Given the description of an element on the screen output the (x, y) to click on. 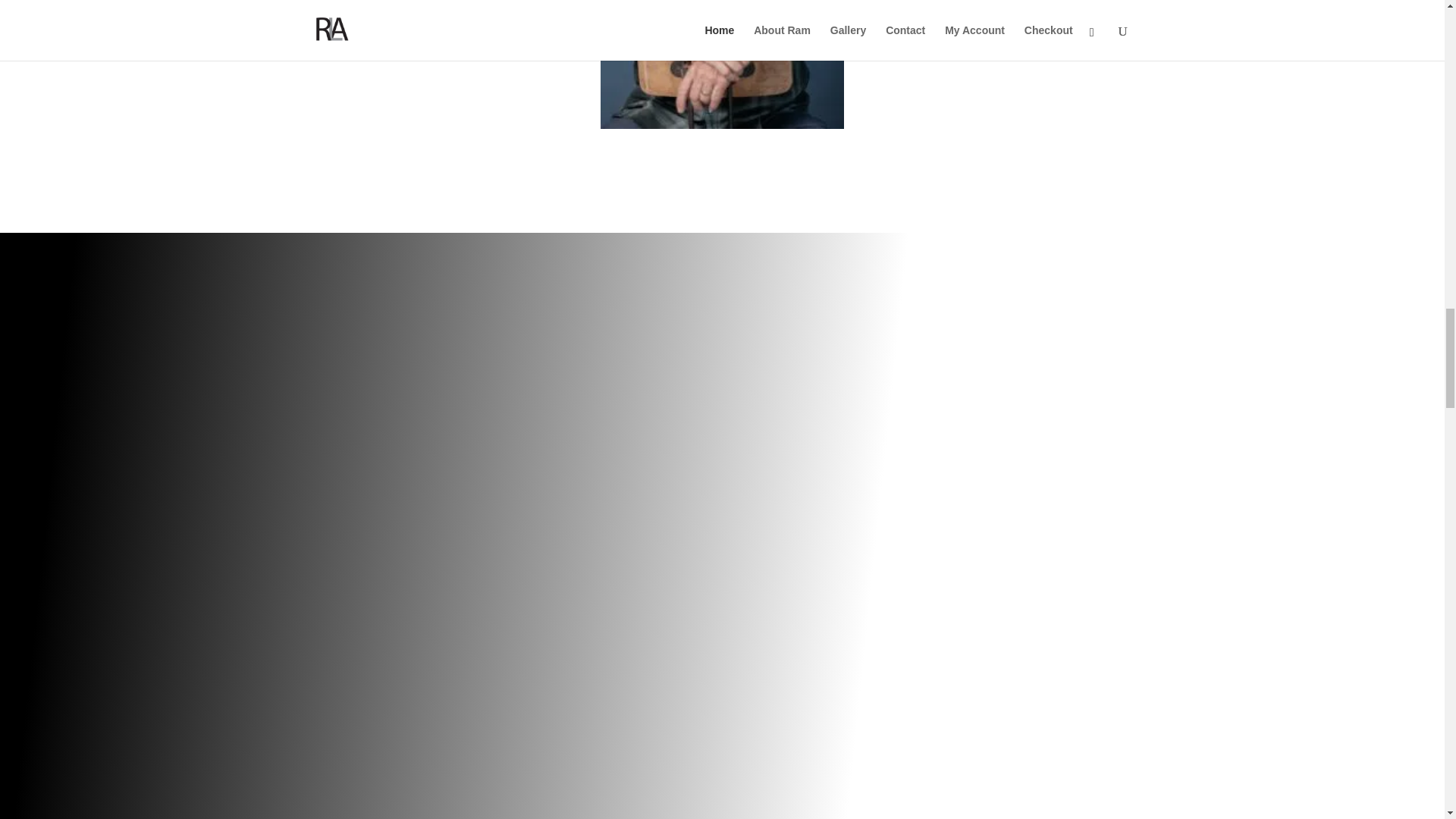
Ram-Lee-Art-Tattoo1110 (721, 63)
